Given the description of an element on the screen output the (x, y) to click on. 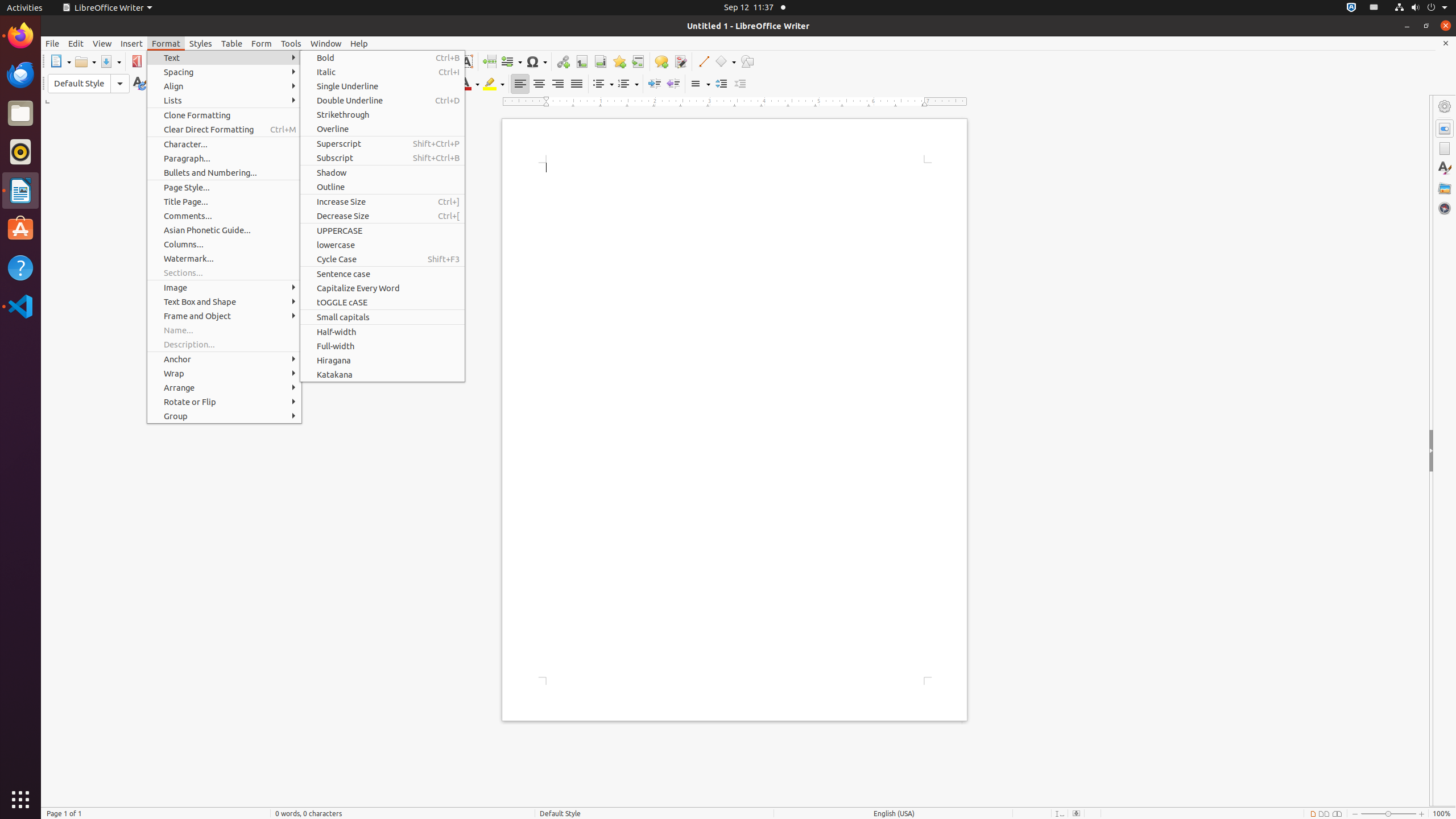
Decrease Element type: push-button (739, 83)
Chart Element type: push-button (446, 61)
Rotate or Flip Element type: menu (224, 401)
Arrange Element type: menu (224, 387)
Styles Element type: radio-button (1444, 168)
